Given the description of an element on the screen output the (x, y) to click on. 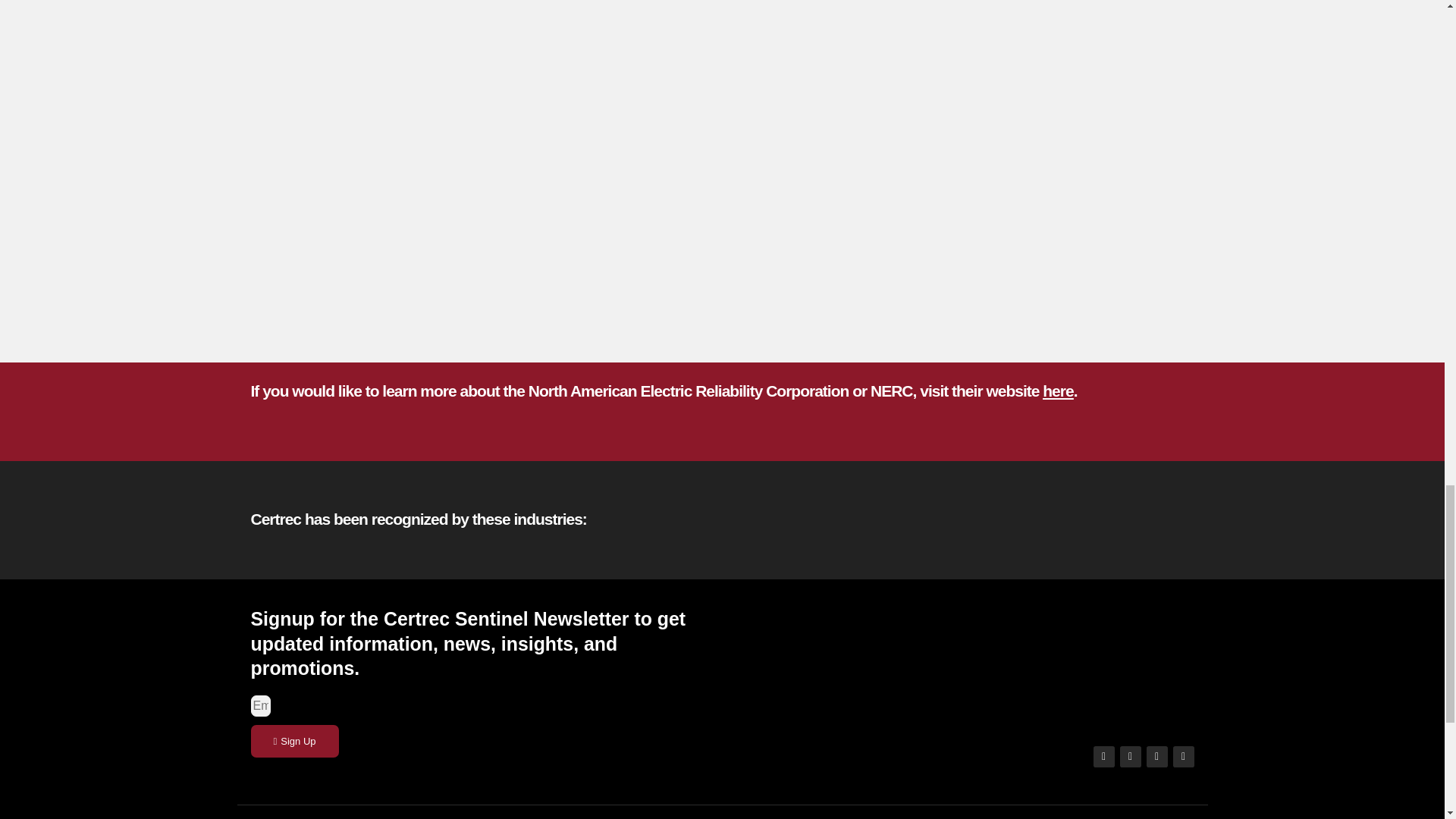
Certrec-Logo-v3-White (1084, 663)
